Given the description of an element on the screen output the (x, y) to click on. 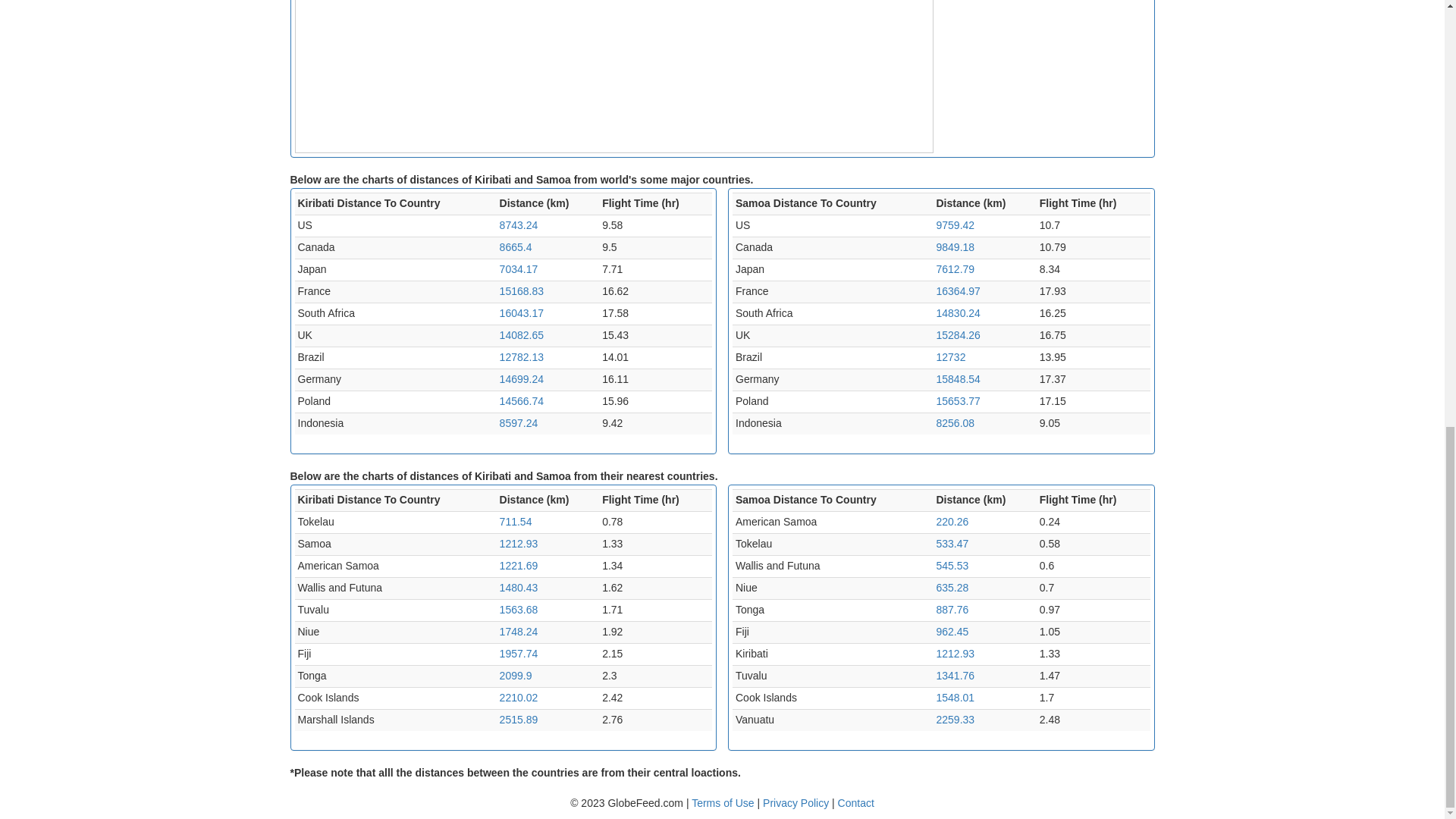
Distance between Samoa and US (955, 224)
Distance between Kiribati and UK (521, 335)
12782.13 (521, 357)
8597.24 (518, 422)
15284.26 (957, 335)
9849.18 (955, 246)
Distance between Samoa and Japan (955, 268)
Distance between Kiribati and France (521, 291)
Distance between Kiribati and South Africa (521, 313)
8743.24 (518, 224)
